Given the description of an element on the screen output the (x, y) to click on. 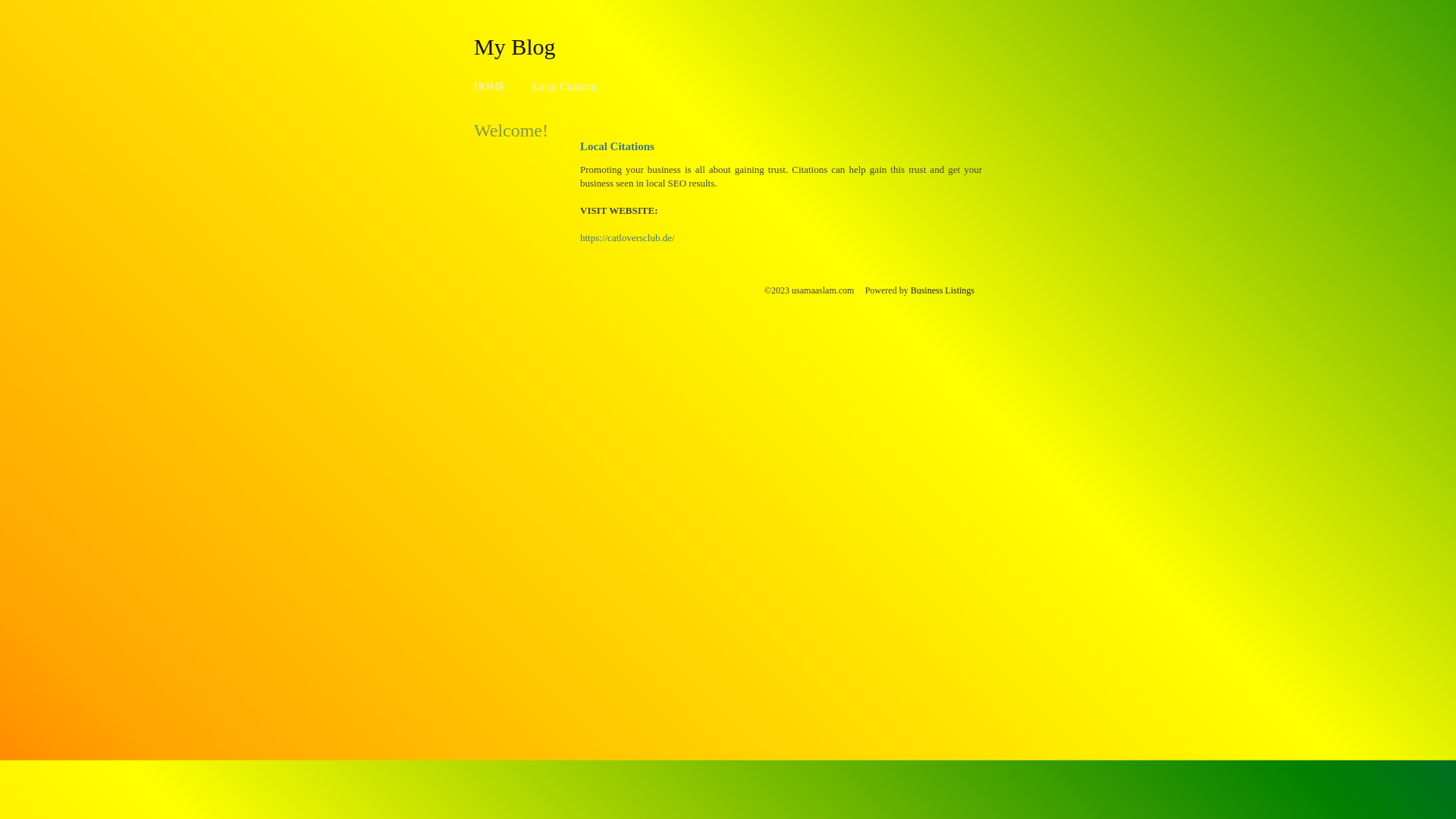
HOME Element type: text (489, 86)
https://catloversclub.de/ Element type: text (627, 237)
Business Listings Element type: text (942, 290)
My Blog Element type: text (514, 46)
Local Citations Element type: text (564, 86)
